Given the description of an element on the screen output the (x, y) to click on. 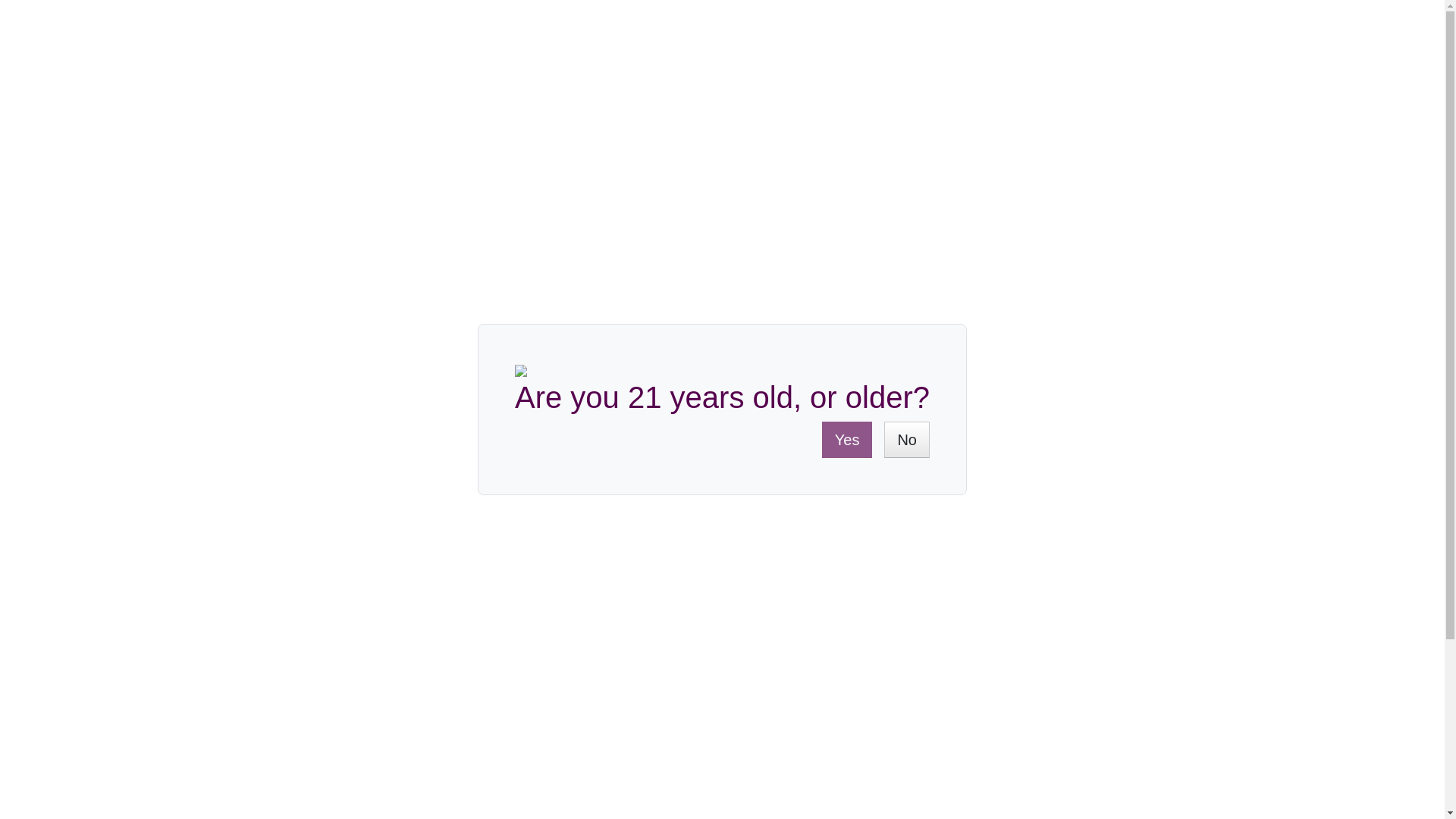
Napa Valley (423, 555)
CONTACT US (1257, 51)
SHOP SPIRITS (710, 123)
INSTORE PICKUP (639, 787)
Carneros (487, 555)
California (359, 555)
SHIPPING INFO (304, 787)
LOCAL DELIVERY (468, 787)
SIGNUP (1040, 727)
Buena Vista Winery (387, 586)
Red Wine (360, 493)
SHOP WINE (379, 123)
Add to Cart (903, 349)
NEW ARRIVALS (1053, 123)
Cabernet Sauvignon (389, 524)
